Given the description of an element on the screen output the (x, y) to click on. 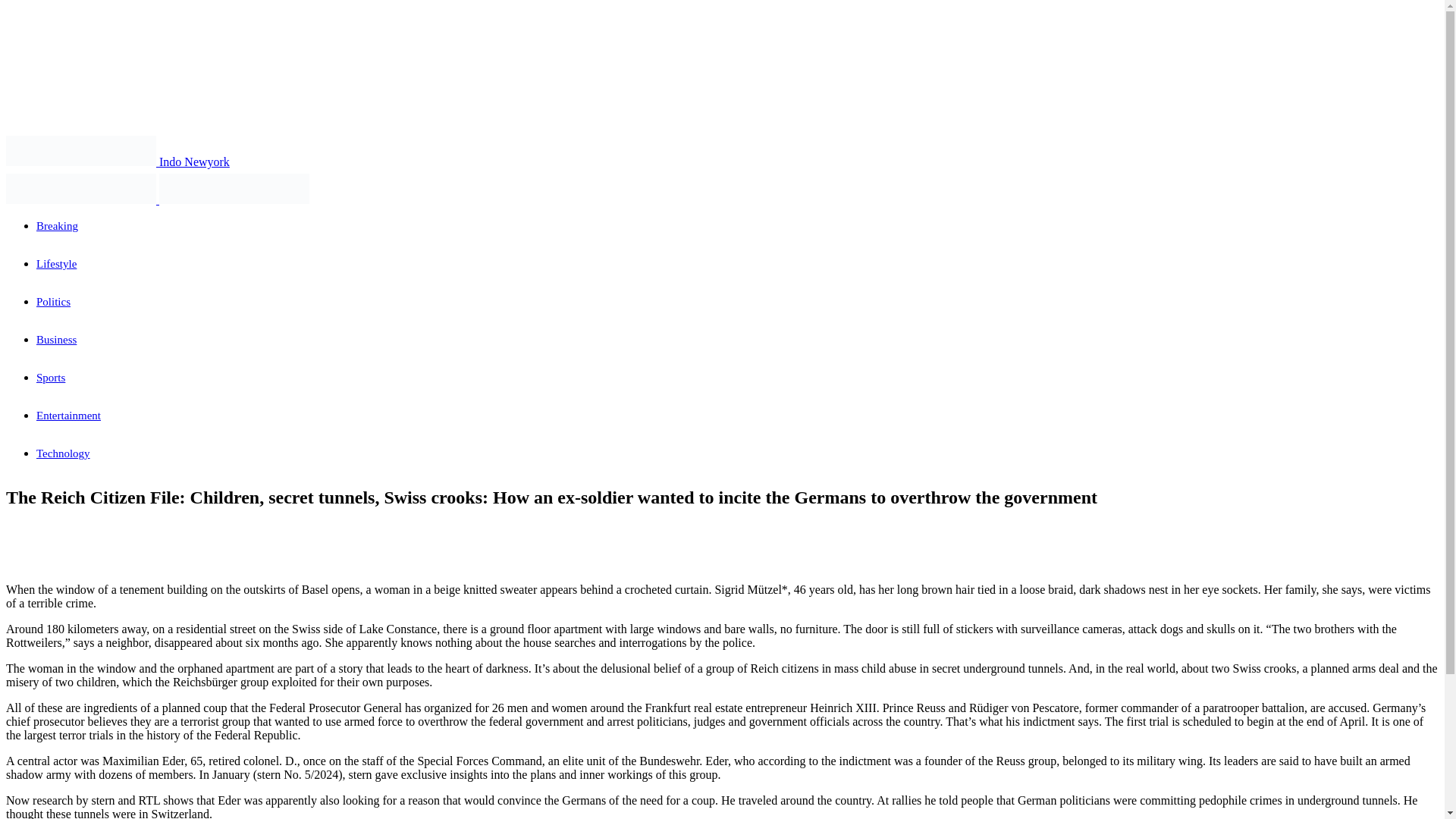
Indo Newyork (117, 161)
Politics (52, 301)
Sports (50, 377)
Business (56, 339)
Entertainment (68, 415)
Technology (63, 453)
Breaking (57, 225)
Lifestyle (56, 263)
